Given the description of an element on the screen output the (x, y) to click on. 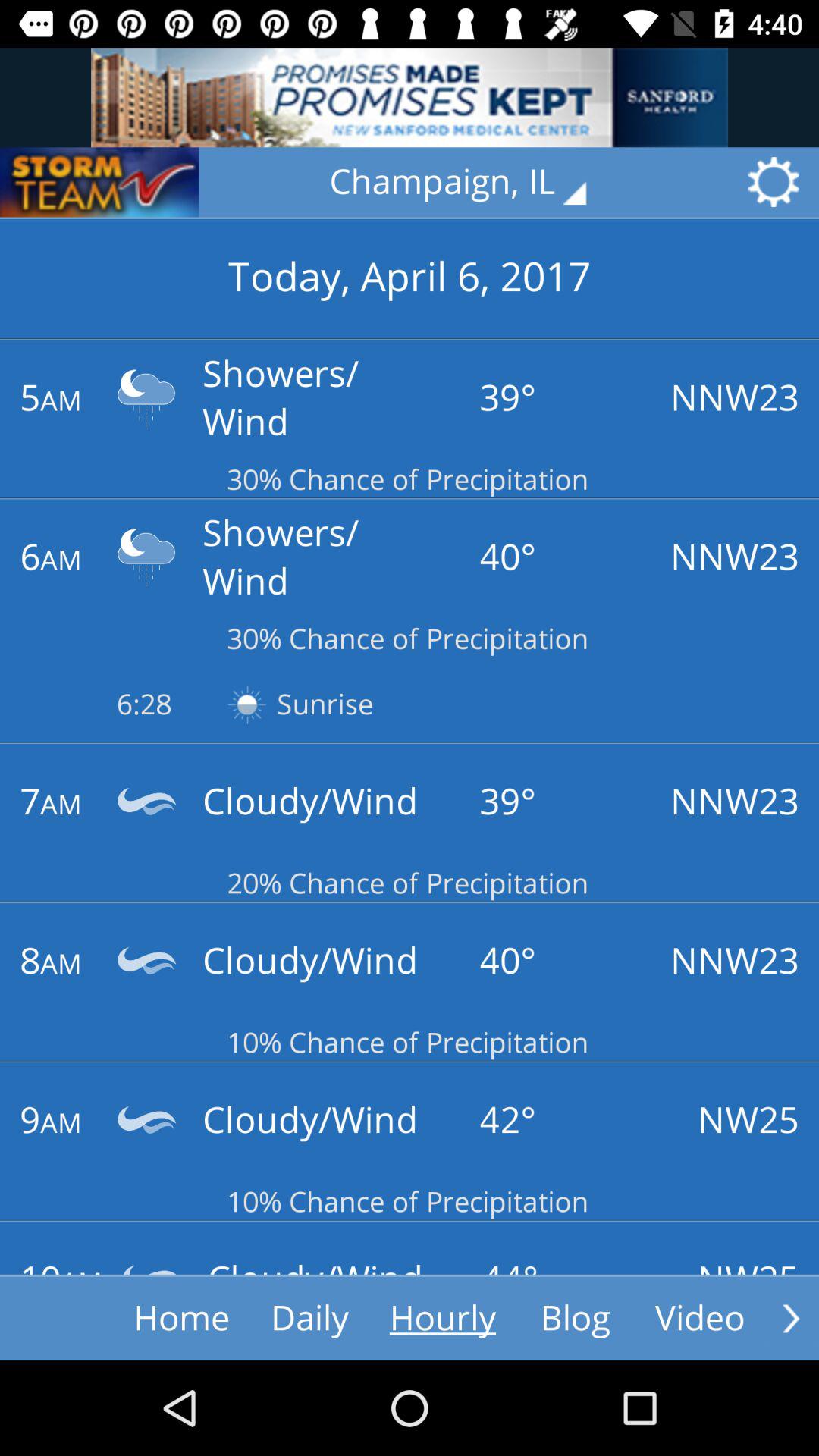
swipe next option (791, 1318)
